Given the description of an element on the screen output the (x, y) to click on. 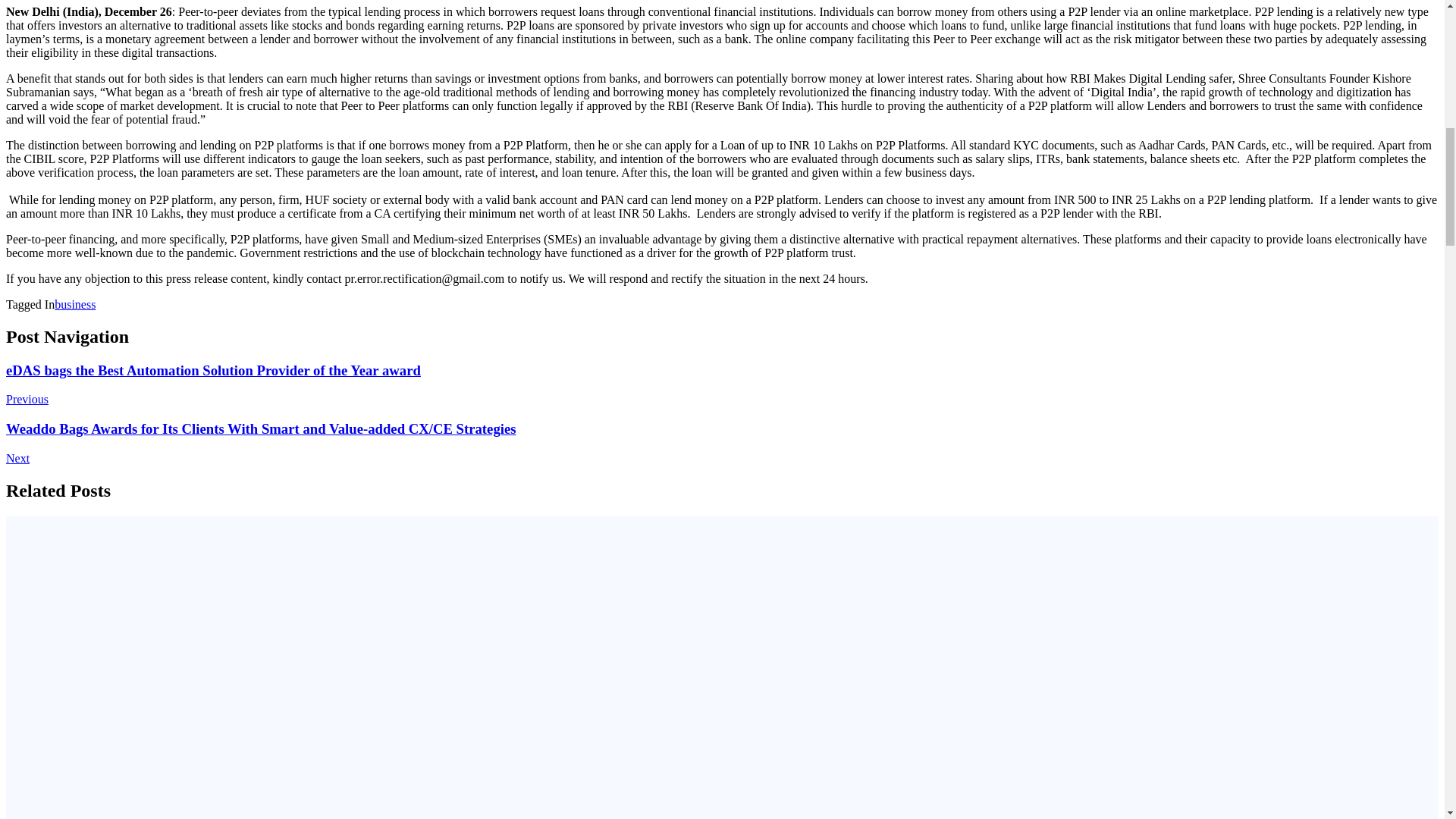
Previous (26, 399)
business (75, 304)
Next (17, 458)
